Given the description of an element on the screen output the (x, y) to click on. 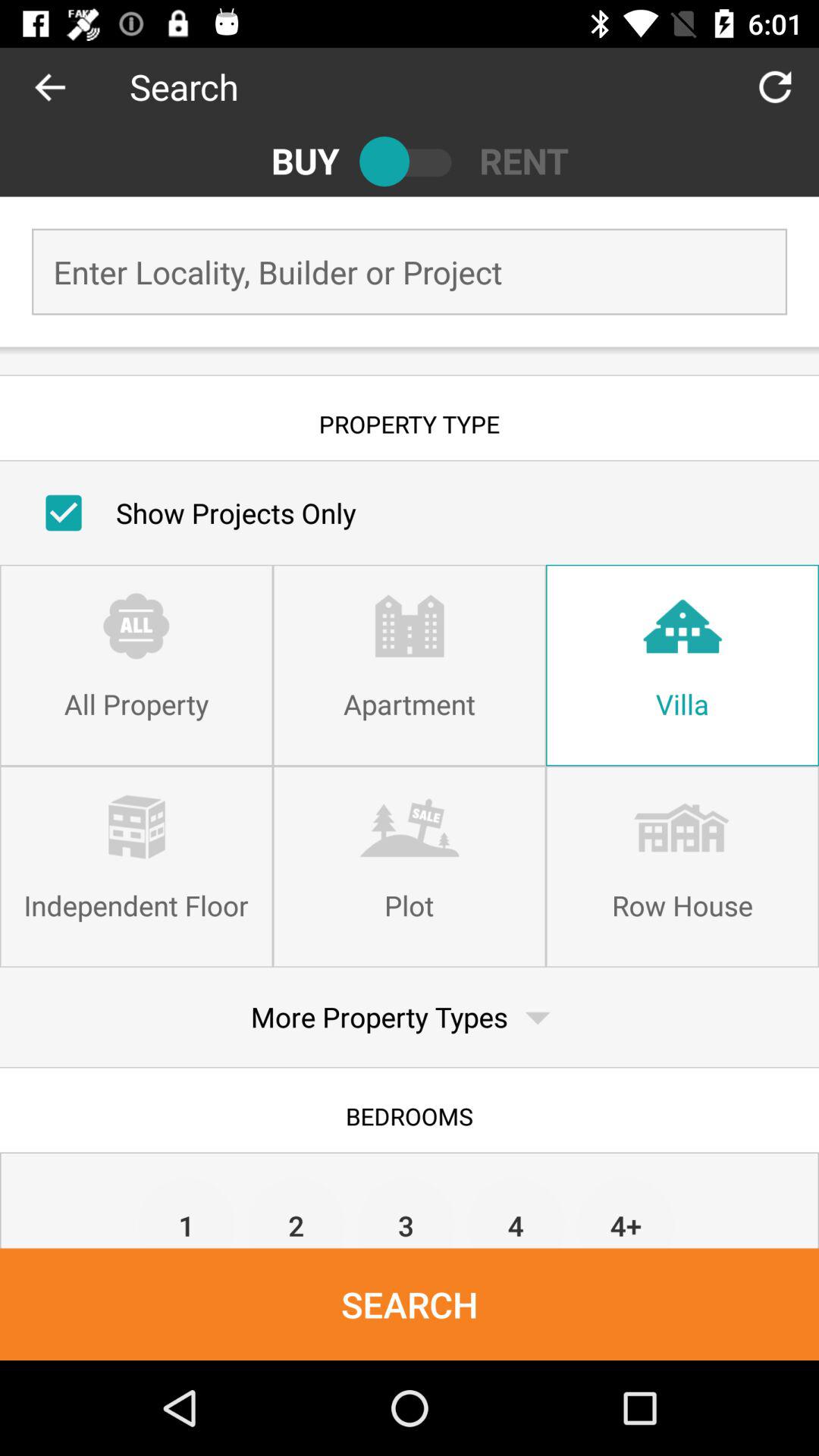
turn off item next to the search (775, 86)
